Given the description of an element on the screen output the (x, y) to click on. 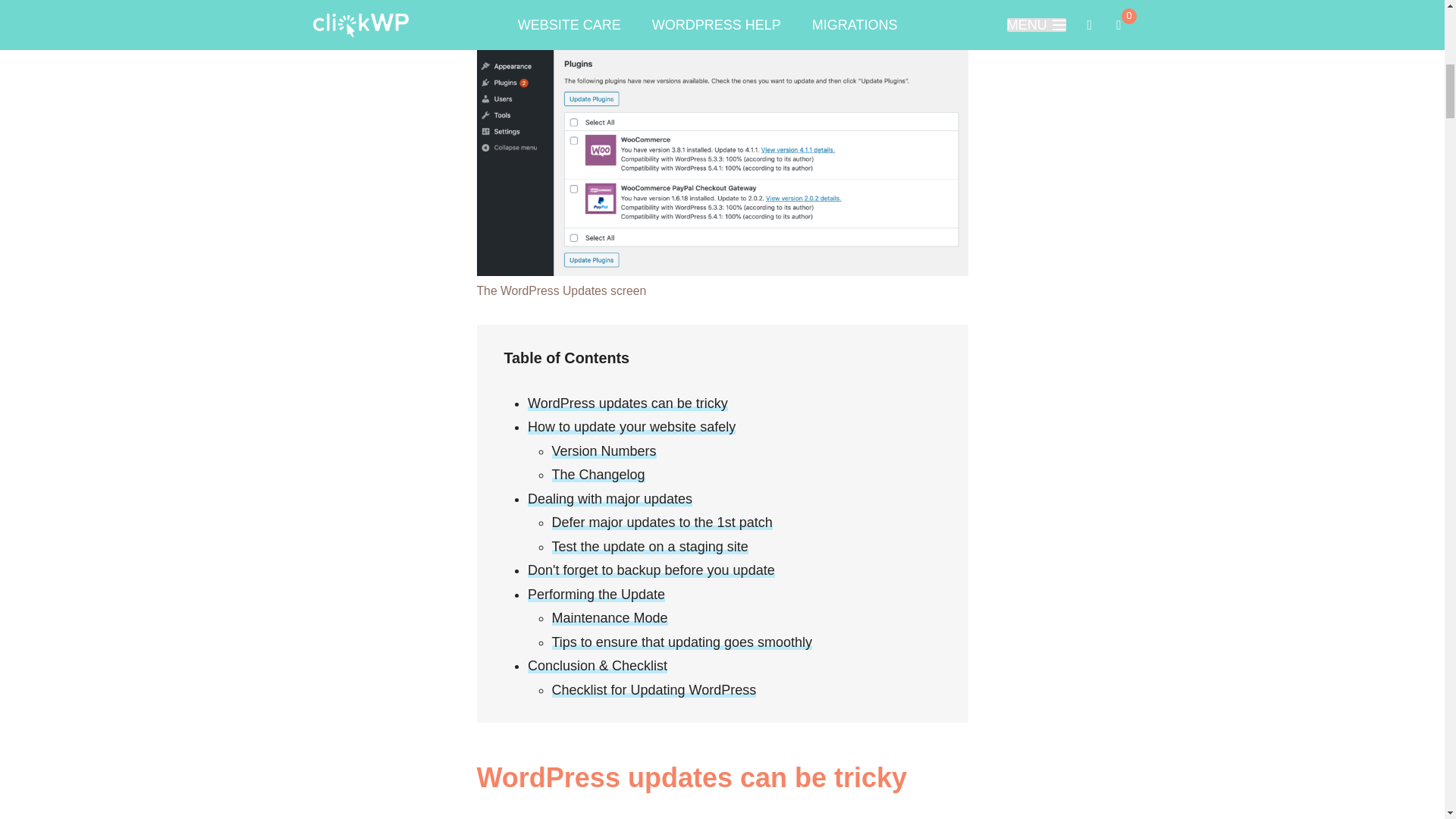
Performing the Update (596, 594)
Defer major updates to the 1st patch (662, 522)
Tips to ensure that updating goes smoothly (681, 641)
Maintenance Mode (609, 617)
Don't forget to backup before you update (650, 570)
Checklist for Updating WordPress (654, 689)
WordPress updates can be tricky (627, 403)
The Changelog (598, 474)
Version Numbers (603, 450)
Test the update on a staging site (649, 545)
